Given the description of an element on the screen output the (x, y) to click on. 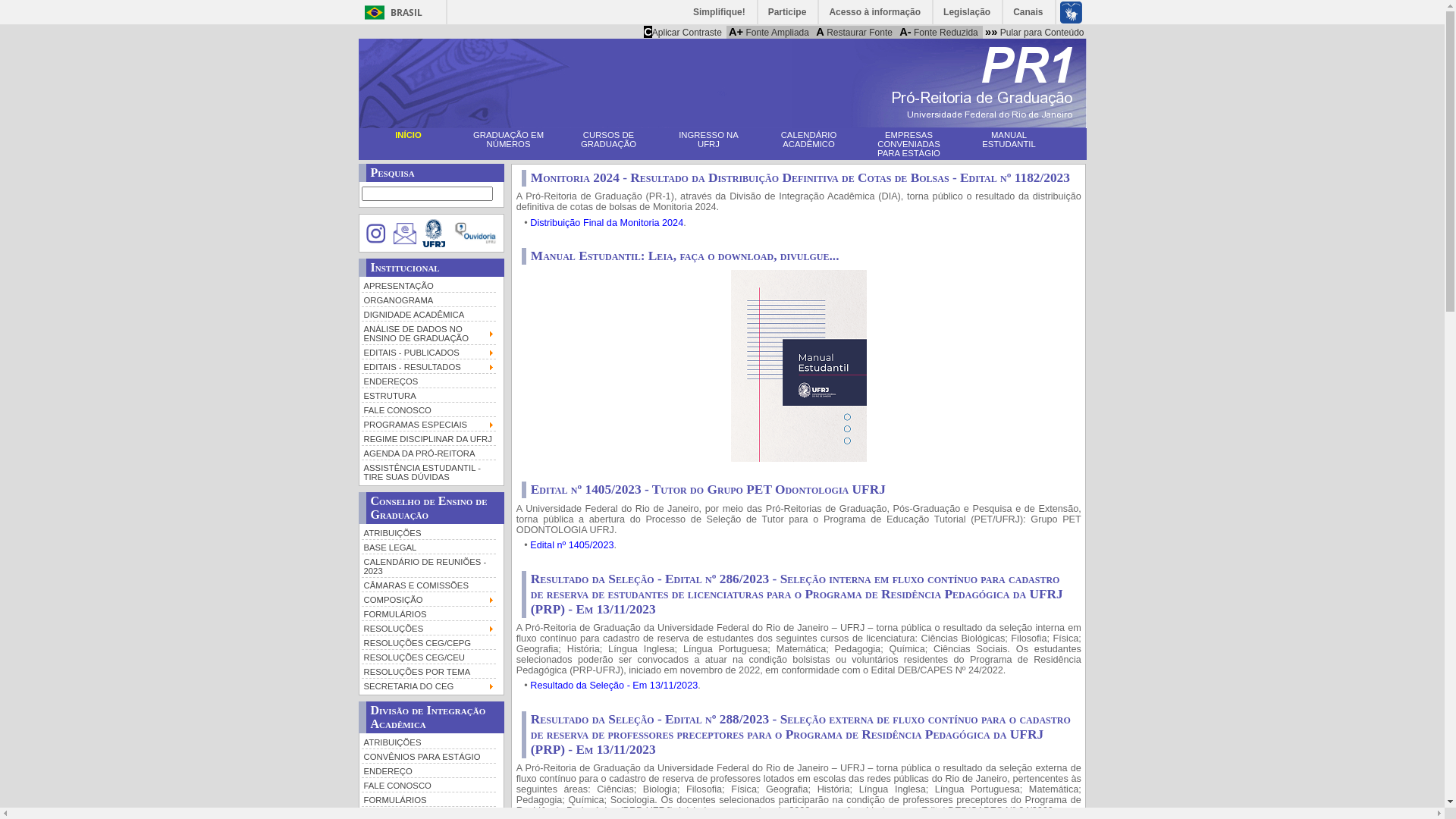
E-mail Institucional da PR-1 Element type: hover (404, 233)
INGRESSO NA UFRJ Element type: text (708, 139)
Ouvidoria da UFRJ Element type: hover (475, 233)
Canais Element type: text (1028, 11)
A+ Fonte Ampliada Element type: text (768, 31)
Simplifique! Element type: text (719, 11)
Site Oficial da UFRJ Element type: hover (433, 233)
FALE CONOSCO Element type: text (427, 784)
SECRETARIA DO CEG Element type: text (427, 684)
A- Fonte Reduzida Element type: text (938, 31)
BASE LEGAL Element type: text (427, 546)
EDITAIS - PUBLICADOS Element type: text (427, 351)
ORGANOGRAMA Element type: text (427, 298)
EDITAIS - RESULTADOS Element type: text (427, 365)
Participe Element type: text (788, 11)
PROGRAMAS ESPECIAIS Element type: text (427, 423)
FALE CONOSCO Element type: text (427, 408)
REGIME DISCIPLINAR DA UFRJ Element type: text (427, 437)
@pr1graduacaoufrj Element type: hover (375, 233)
BRASIL Element type: text (389, 12)
CAplicar Contraste Element type: text (682, 31)
MANUAL ESTUDANTIL Element type: text (1008, 139)
ESTRUTURA Element type: text (427, 394)
A Restaurar Fonte Element type: text (853, 31)
